Given the description of an element on the screen output the (x, y) to click on. 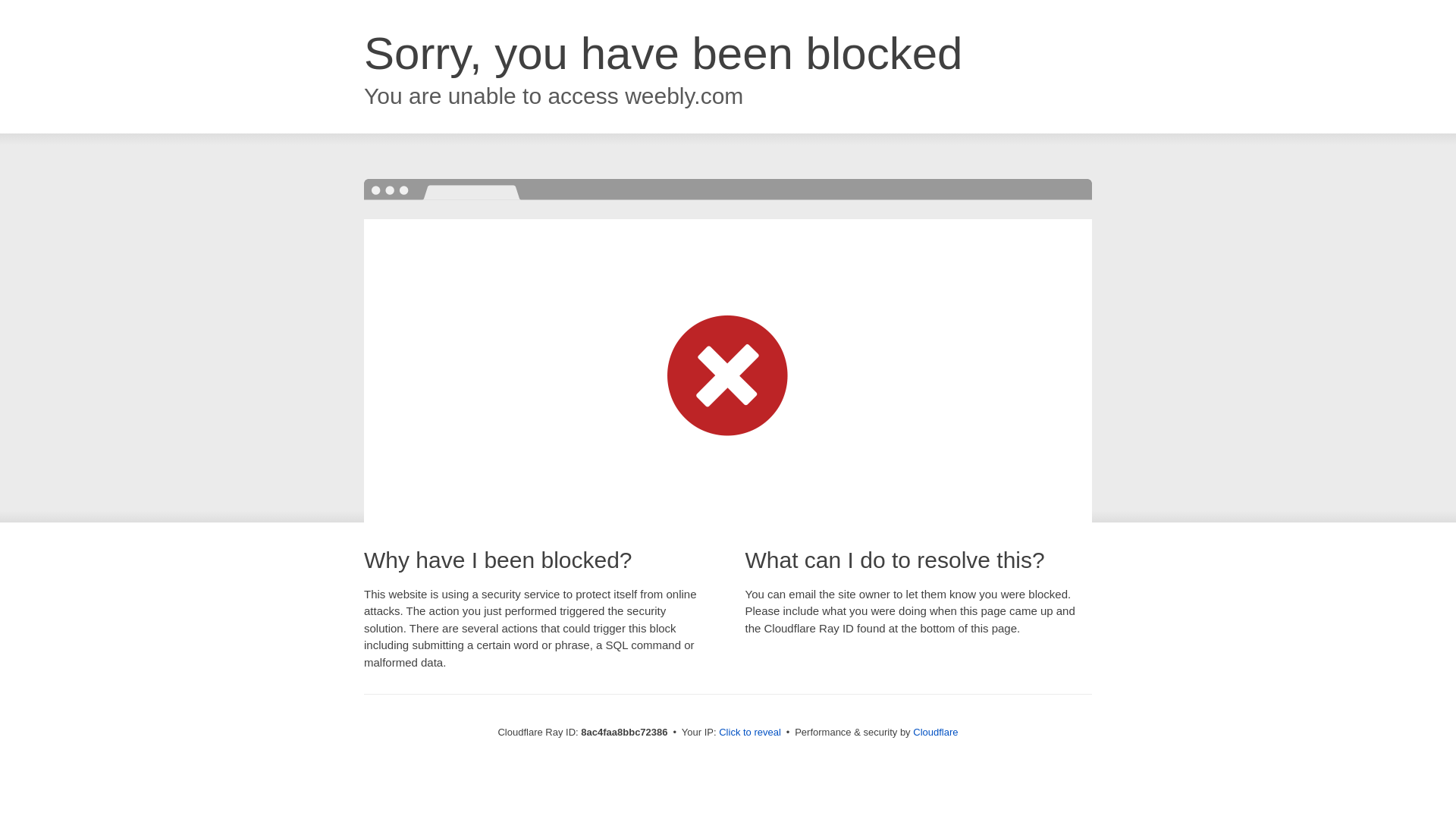
Click to reveal (749, 732)
Cloudflare (935, 731)
